Given the description of an element on the screen output the (x, y) to click on. 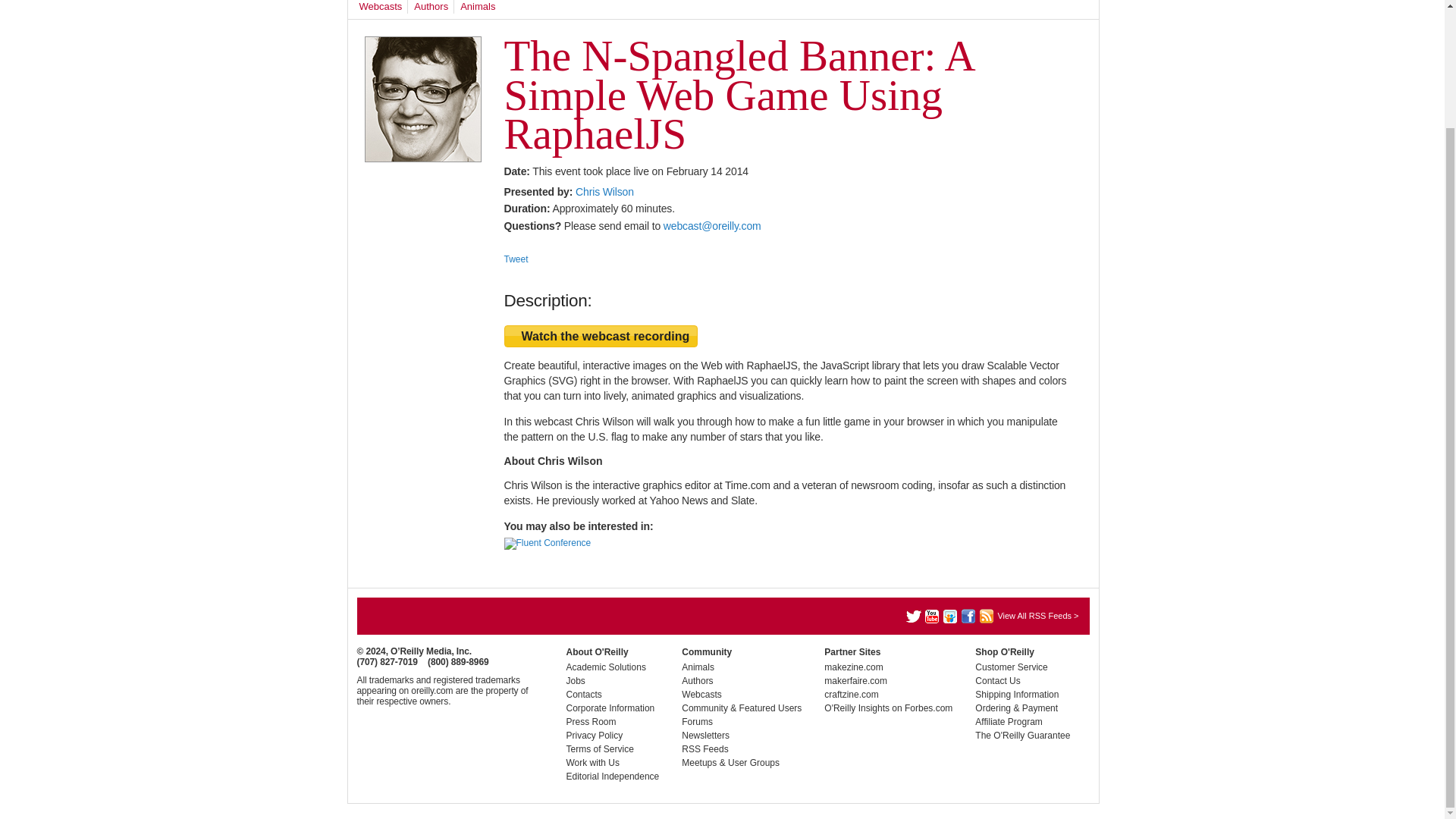
Corporate Information (609, 707)
Watch the webcast recording (600, 336)
Authors (430, 6)
Contacts (583, 694)
Webcasts (381, 6)
Animals (477, 6)
Chris Wilson (604, 191)
Academic Solutions (605, 666)
Jobs (575, 680)
Press Room (590, 721)
Tweet (515, 258)
